Given the description of an element on the screen output the (x, y) to click on. 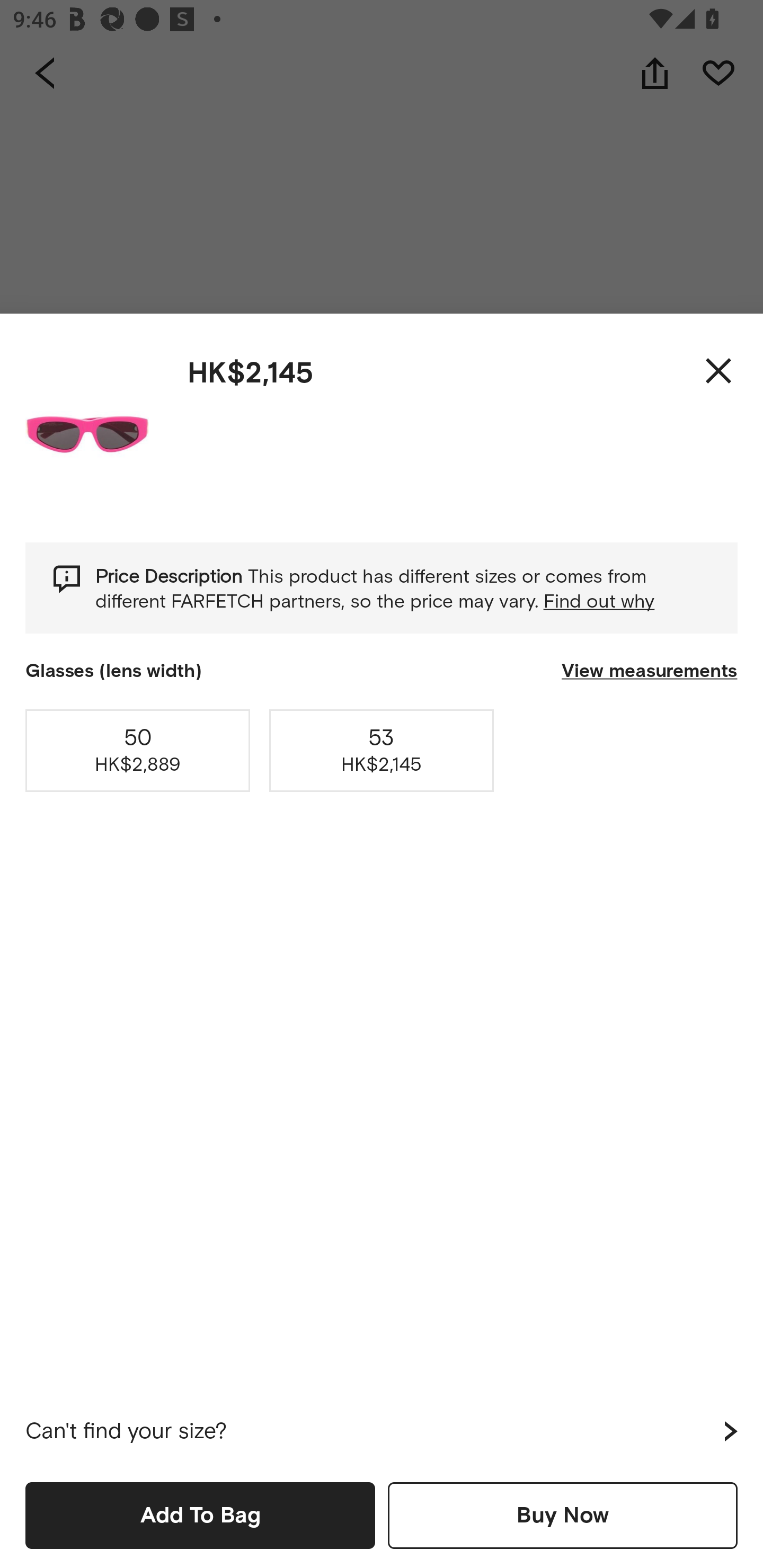
50 HK$2,889 (137, 749)
53 HK$2,145 (381, 749)
Can't find your size? (381, 1431)
Add To Bag (200, 1515)
Buy Now (562, 1515)
